Given the description of an element on the screen output the (x, y) to click on. 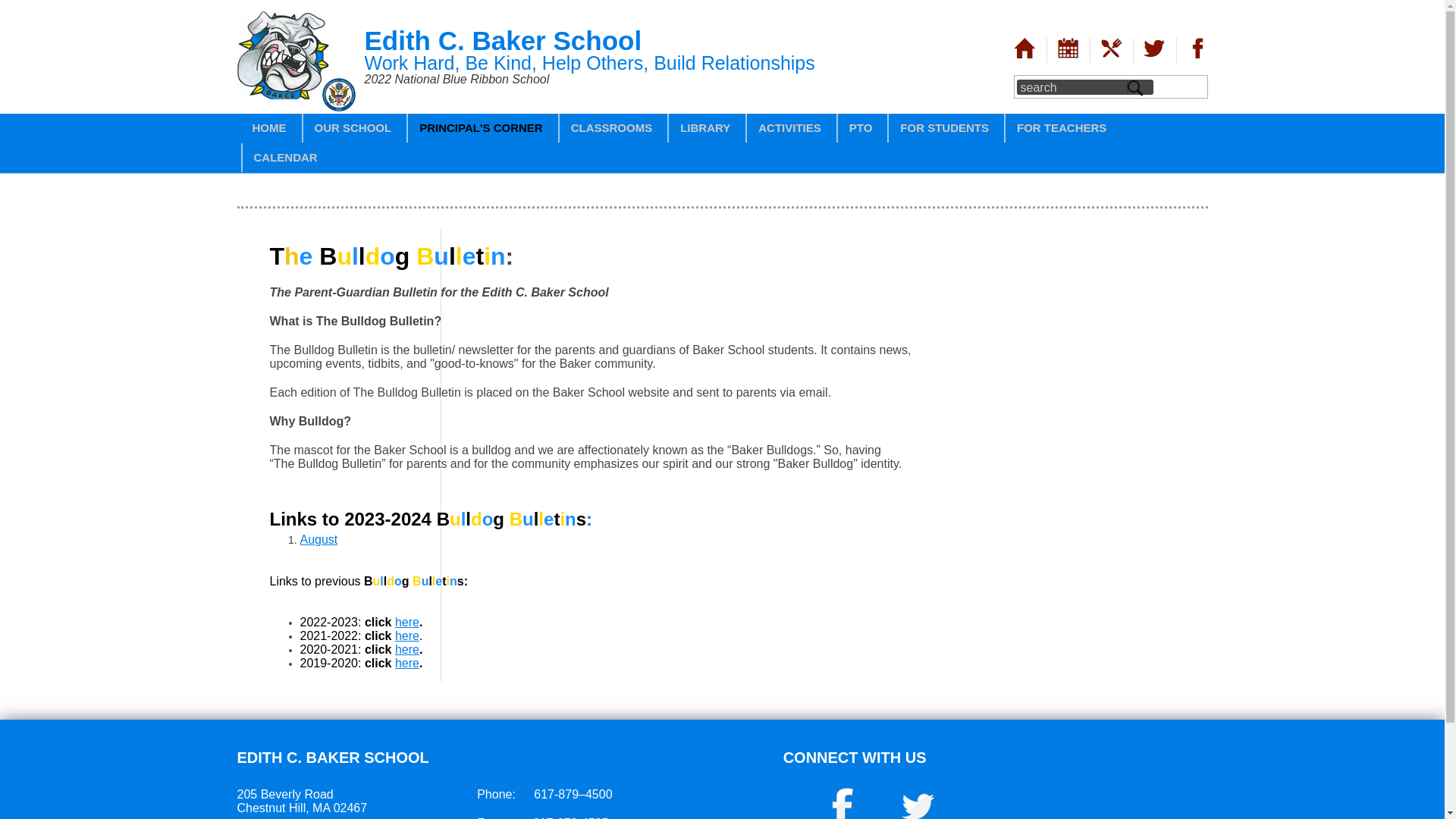
HOME (269, 128)
Edith C. Baker School (295, 109)
Search (1135, 87)
search (1070, 87)
OUR SCHOOL (352, 128)
S (1135, 87)
Search Term (1070, 87)
